Given the description of an element on the screen output the (x, y) to click on. 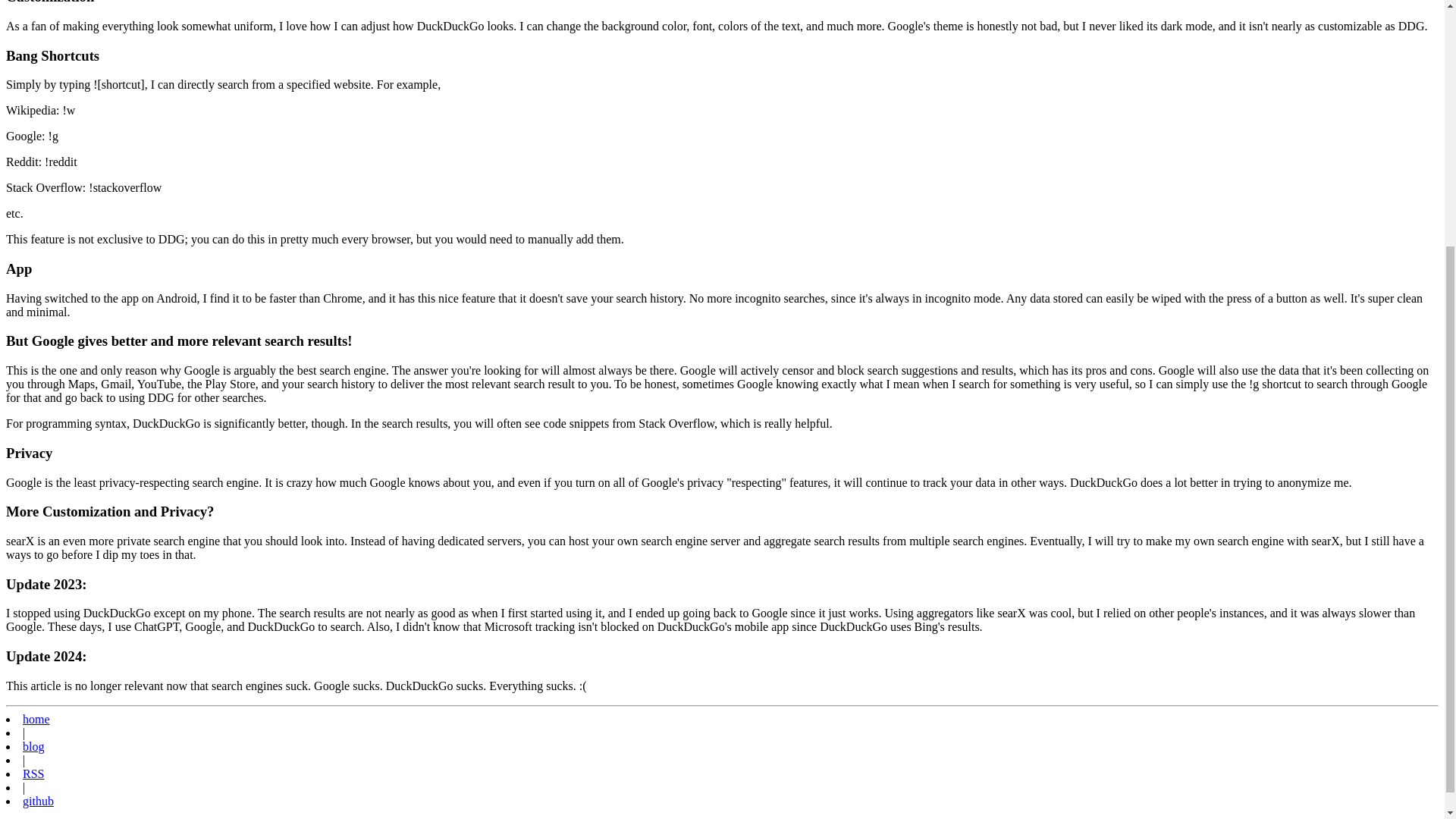
github (38, 800)
RSS (33, 773)
blog (33, 746)
home (36, 718)
